Given the description of an element on the screen output the (x, y) to click on. 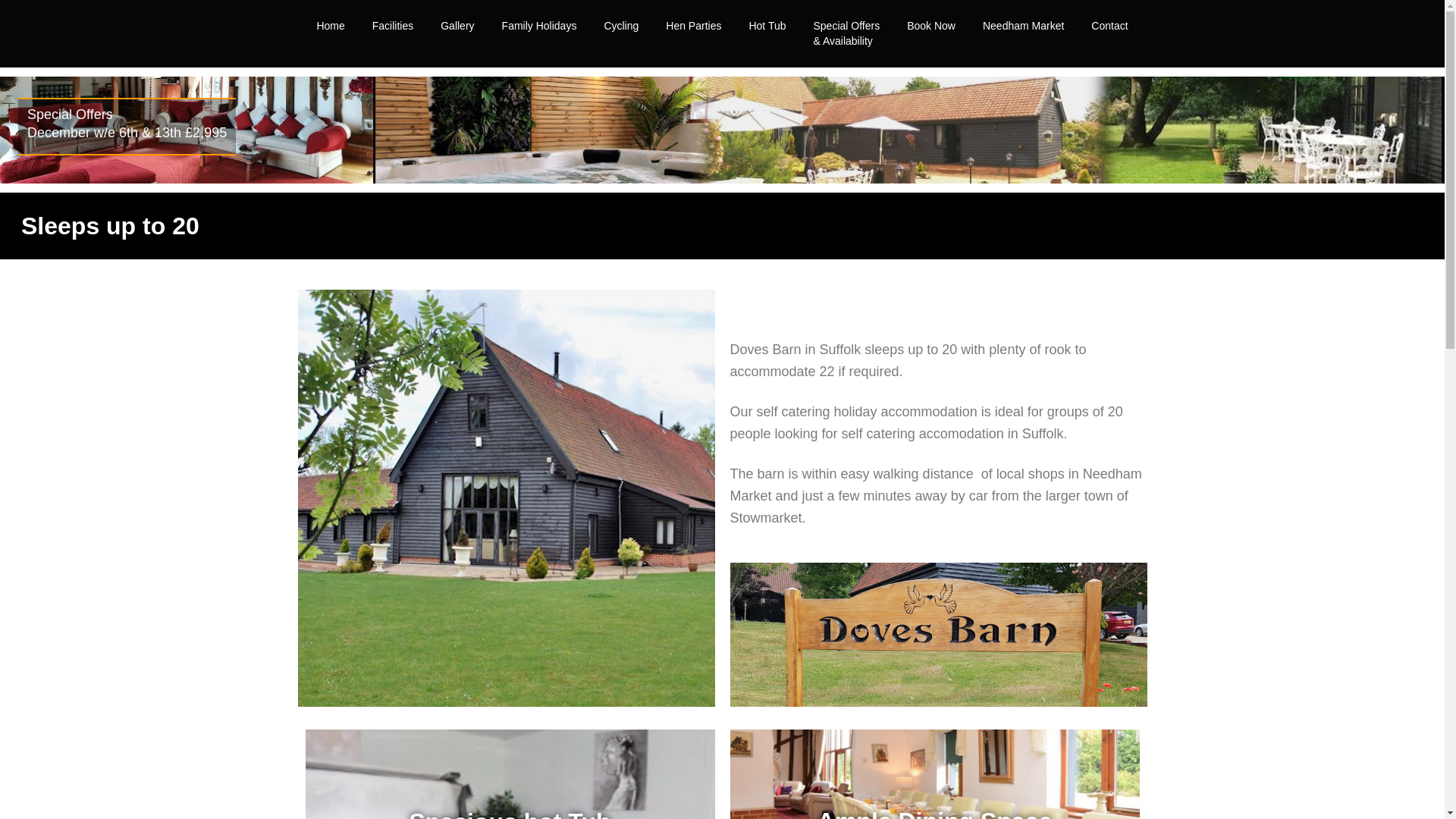
Needham Market (1023, 26)
Hen Parties (693, 26)
Family Holidays (539, 26)
Contact (1109, 26)
Facilities (392, 26)
Book Now (931, 26)
Gallery (456, 26)
Cycling (620, 26)
Home (330, 26)
Hot Tub (767, 26)
